Given the description of an element on the screen output the (x, y) to click on. 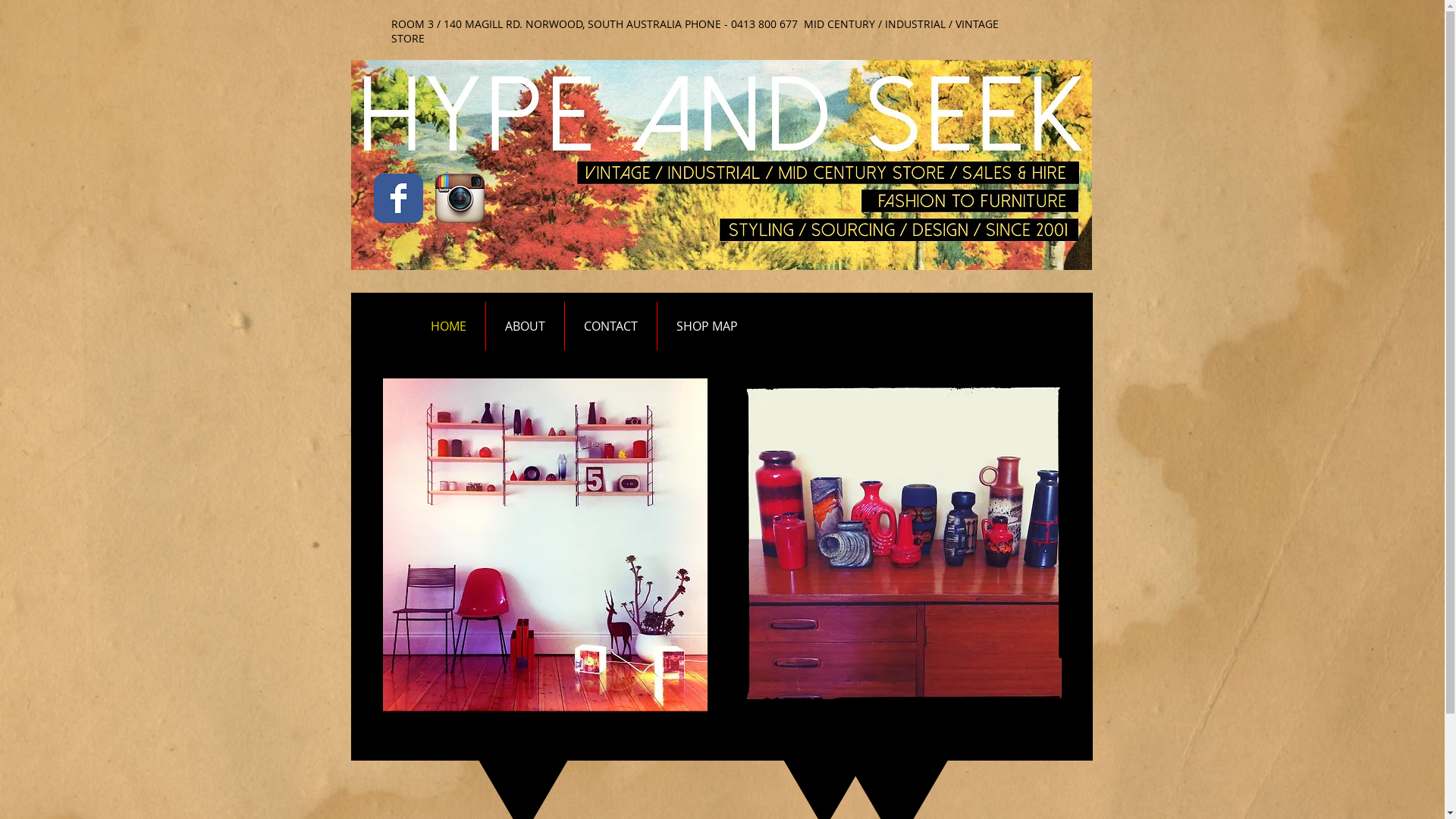
ABOUT Element type: text (524, 325)
CONTACT Element type: text (609, 325)
SHOP MAP Element type: text (706, 325)
HOME Element type: text (447, 325)
1.jpg Element type: hover (544, 544)
